Given the description of an element on the screen output the (x, y) to click on. 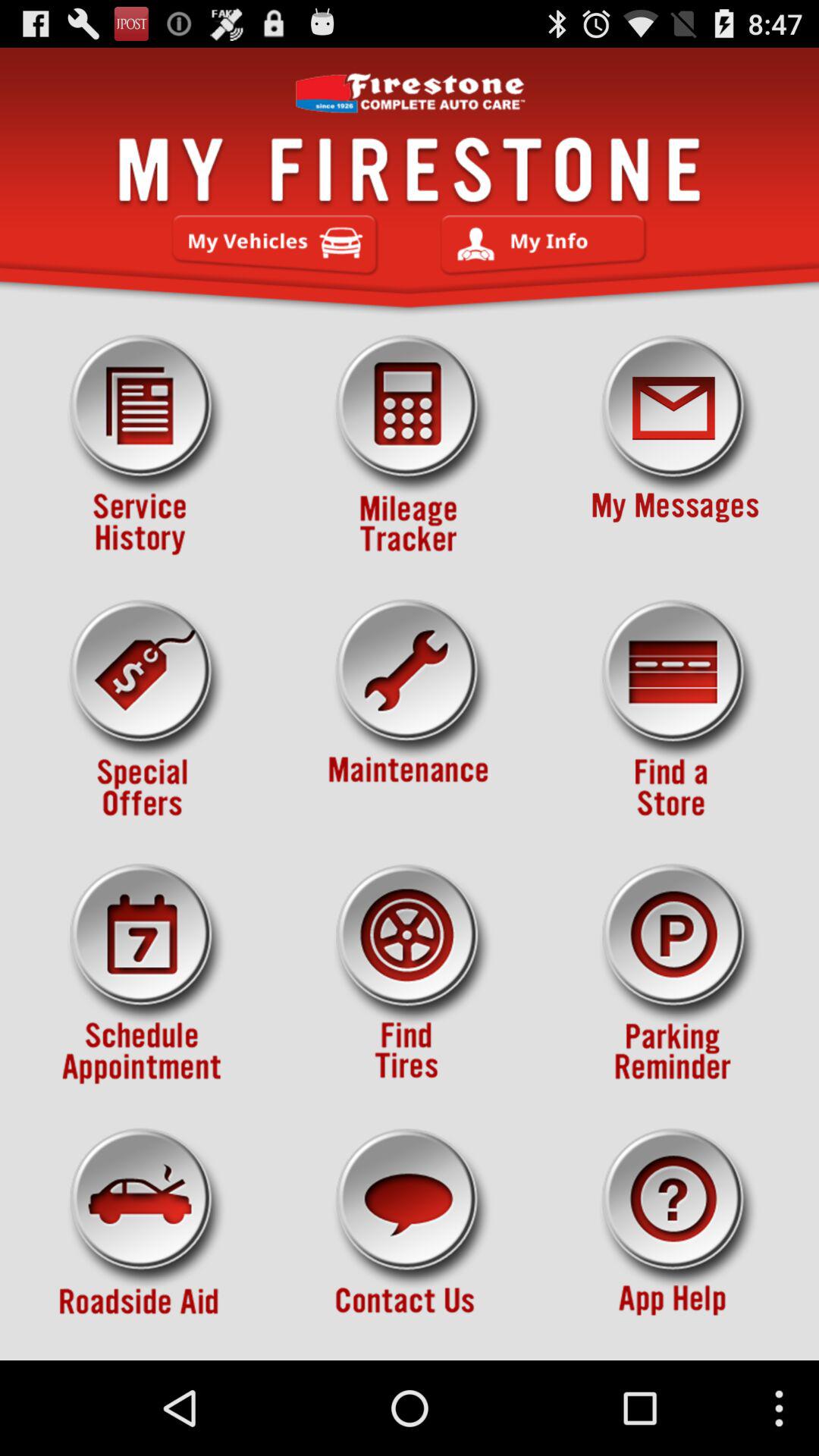
tap icon on the right (675, 709)
